Given the description of an element on the screen output the (x, y) to click on. 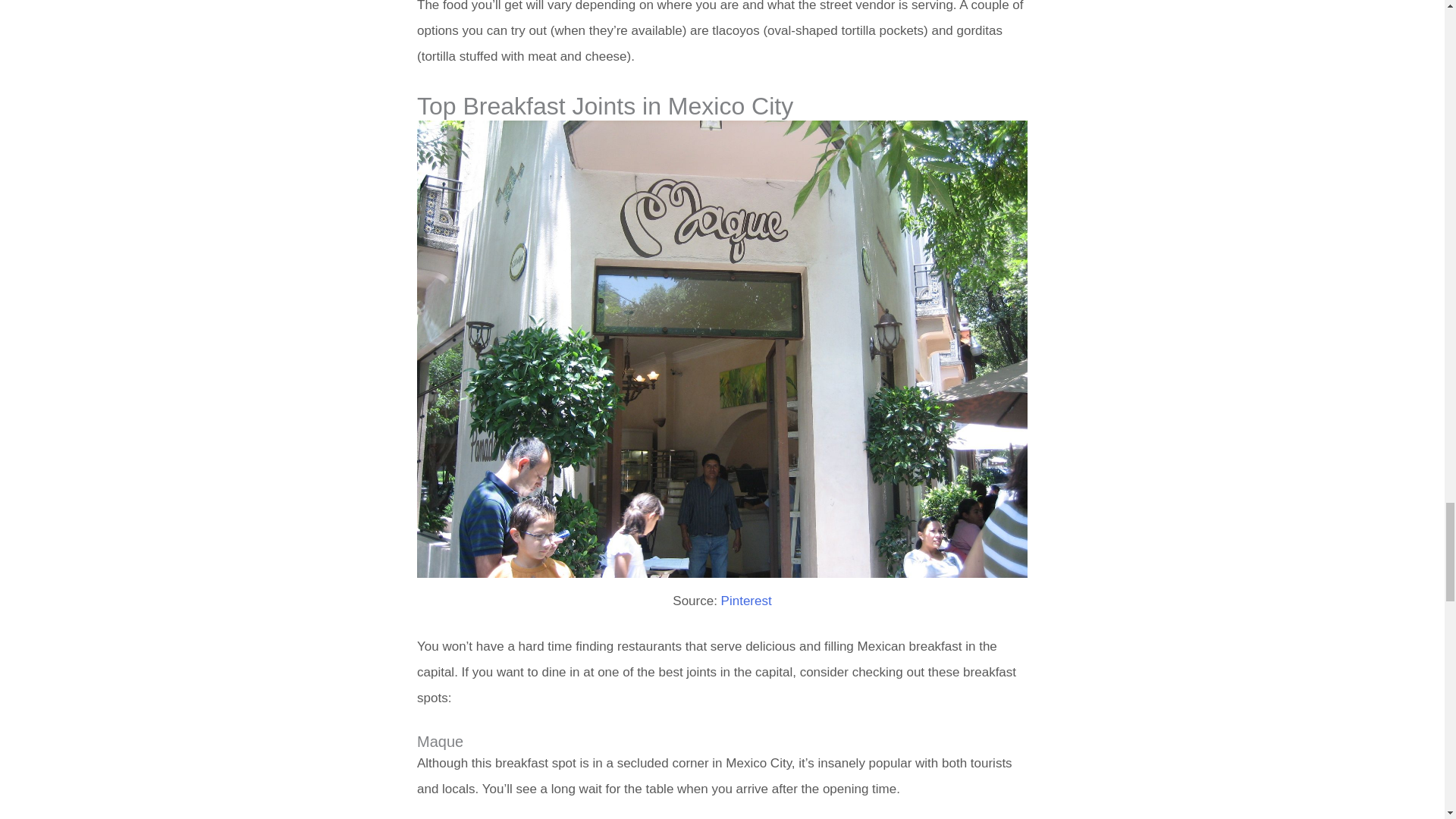
Pinterest (745, 600)
